Given the description of an element on the screen output the (x, y) to click on. 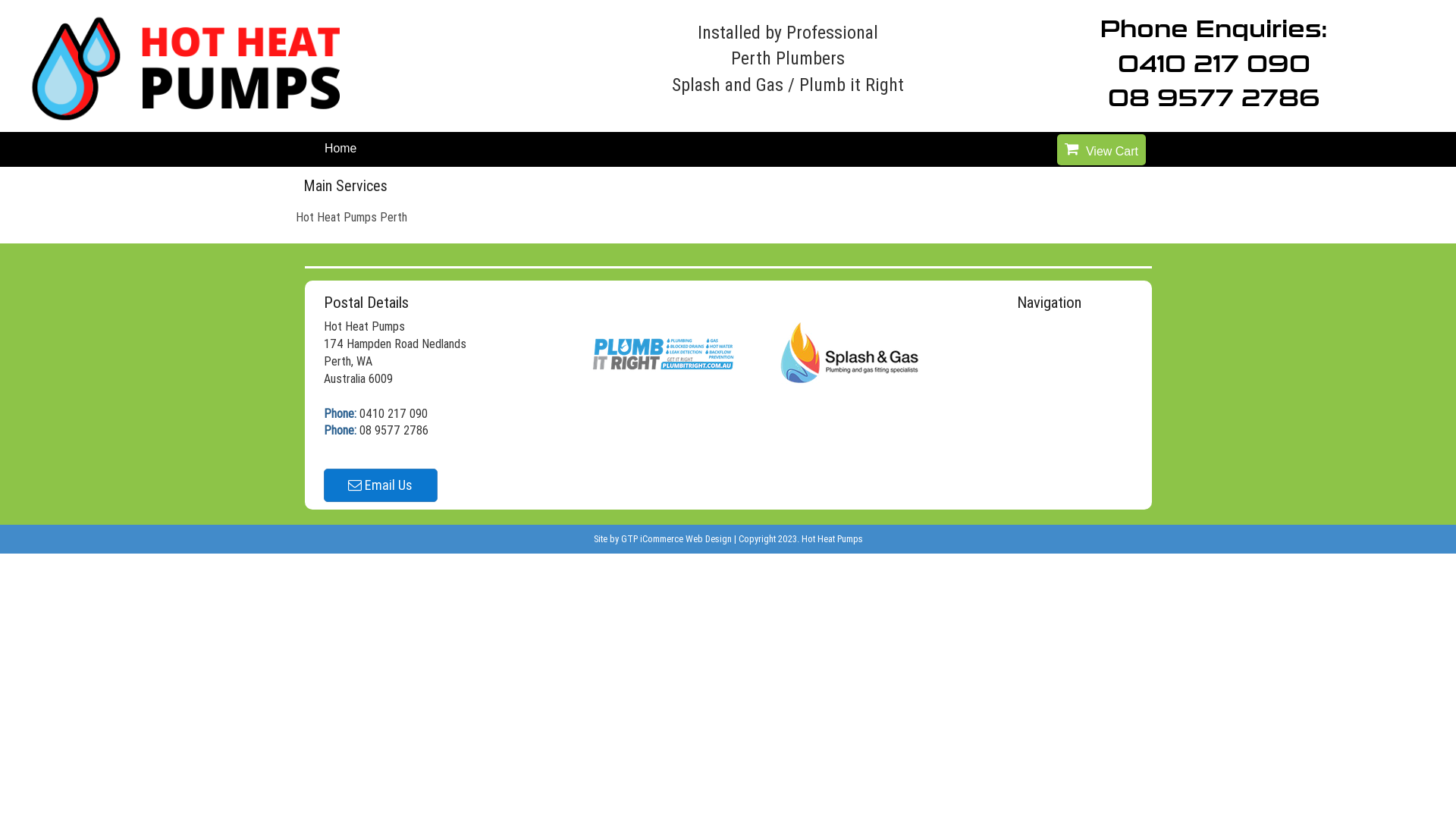
Splash and Gas Element type: hover (849, 350)
GTP iCommerce Web Design Element type: text (675, 538)
Plumb it Right Element type: hover (664, 350)
View Cart Element type: text (1101, 150)
Home Element type: text (340, 147)
| Element type: text (735, 538)
Email Us Element type: text (379, 485)
Hot Heat Pumps Perth Element type: text (351, 216)
